Given the description of an element on the screen output the (x, y) to click on. 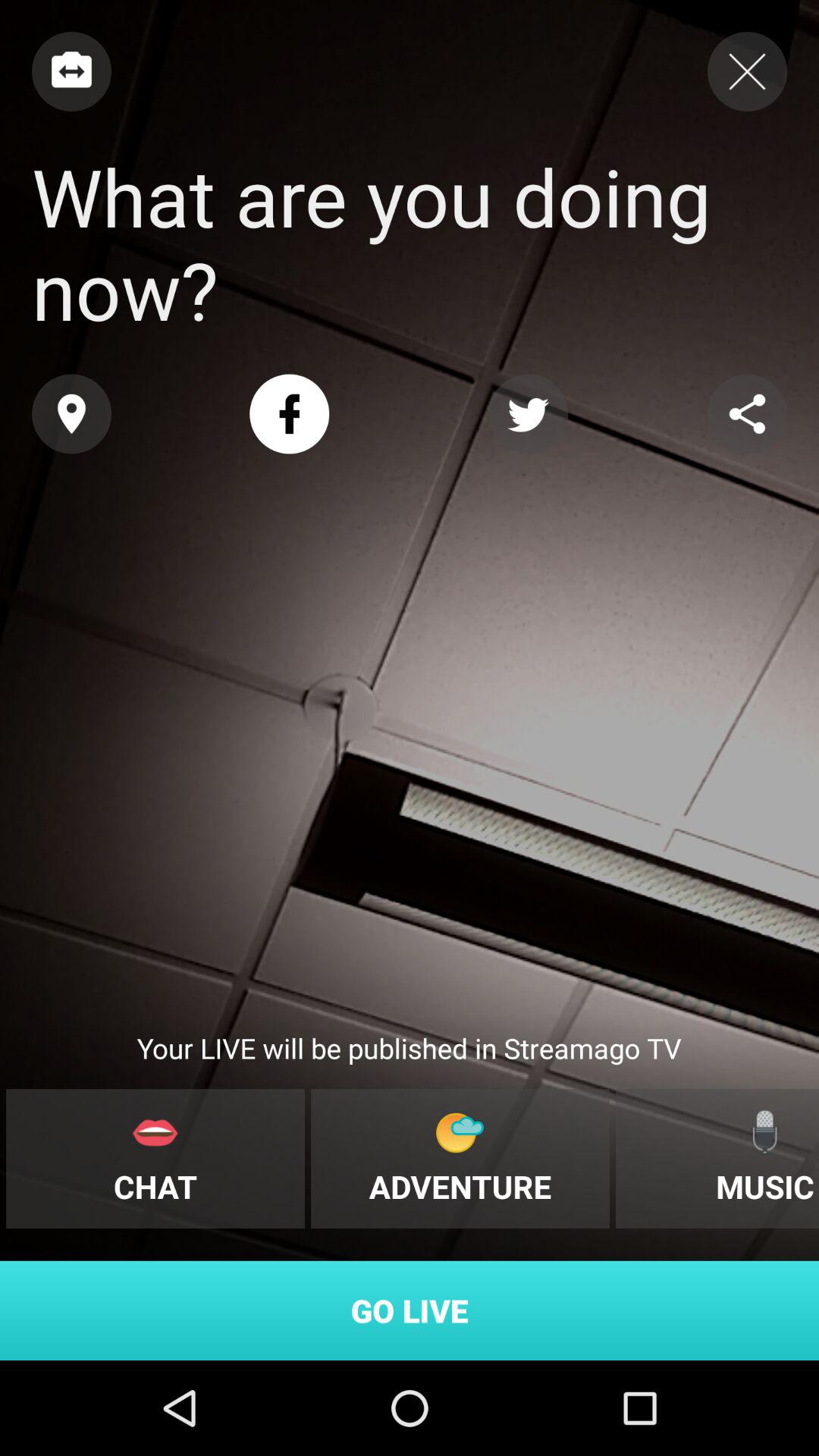
share with twitter (528, 413)
